Given the description of an element on the screen output the (x, y) to click on. 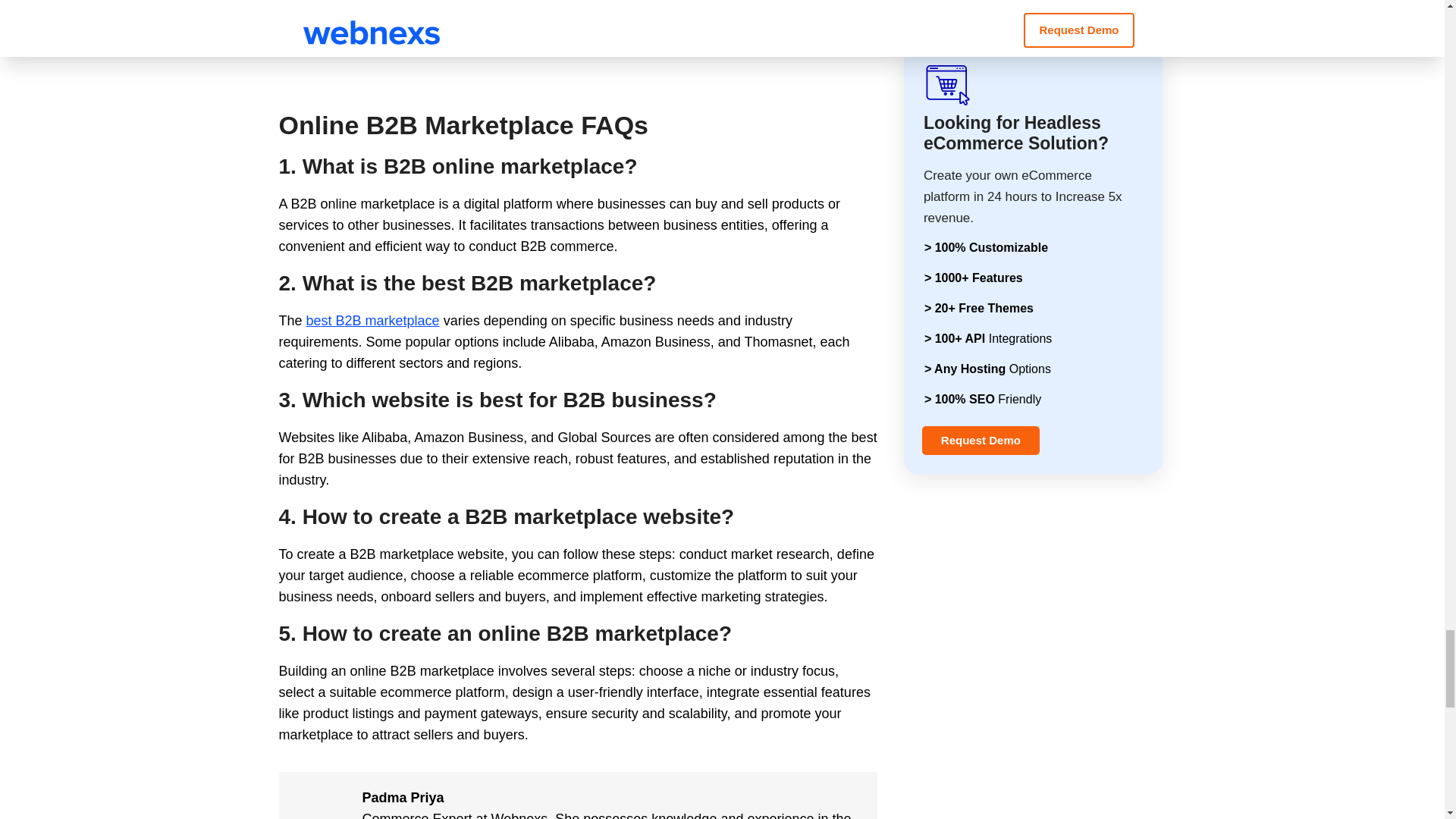
best B2B marketplace (372, 320)
